Given the description of an element on the screen output the (x, y) to click on. 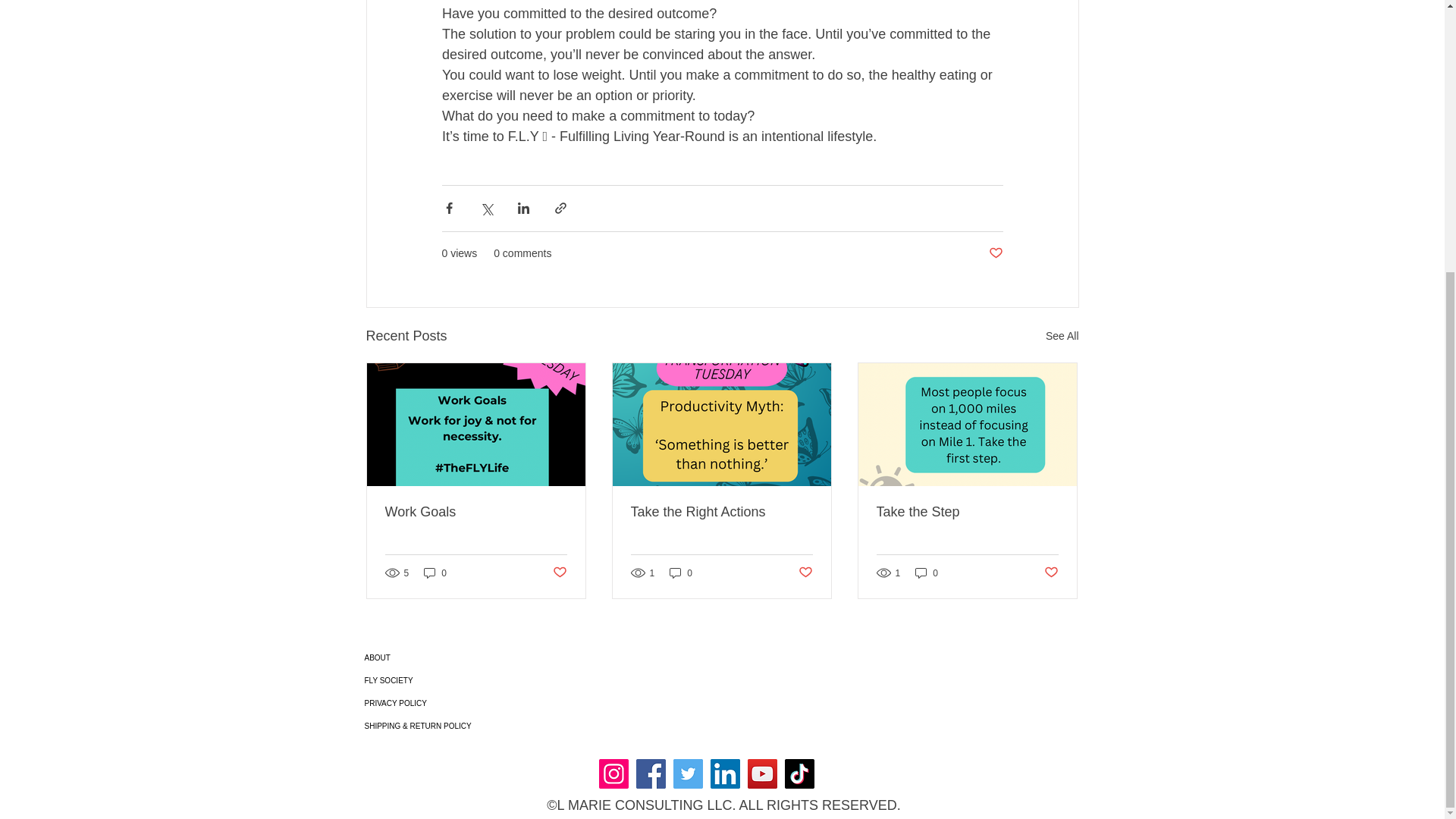
PRIVACY POLICY (455, 703)
Work Goals (476, 512)
0 (681, 572)
FLY SOCIETY (455, 680)
Take the Step (967, 512)
0 (435, 572)
Take the Right Actions (721, 512)
ABOUT (455, 658)
Post not marked as liked (995, 253)
See All (1061, 336)
